Given the description of an element on the screen output the (x, y) to click on. 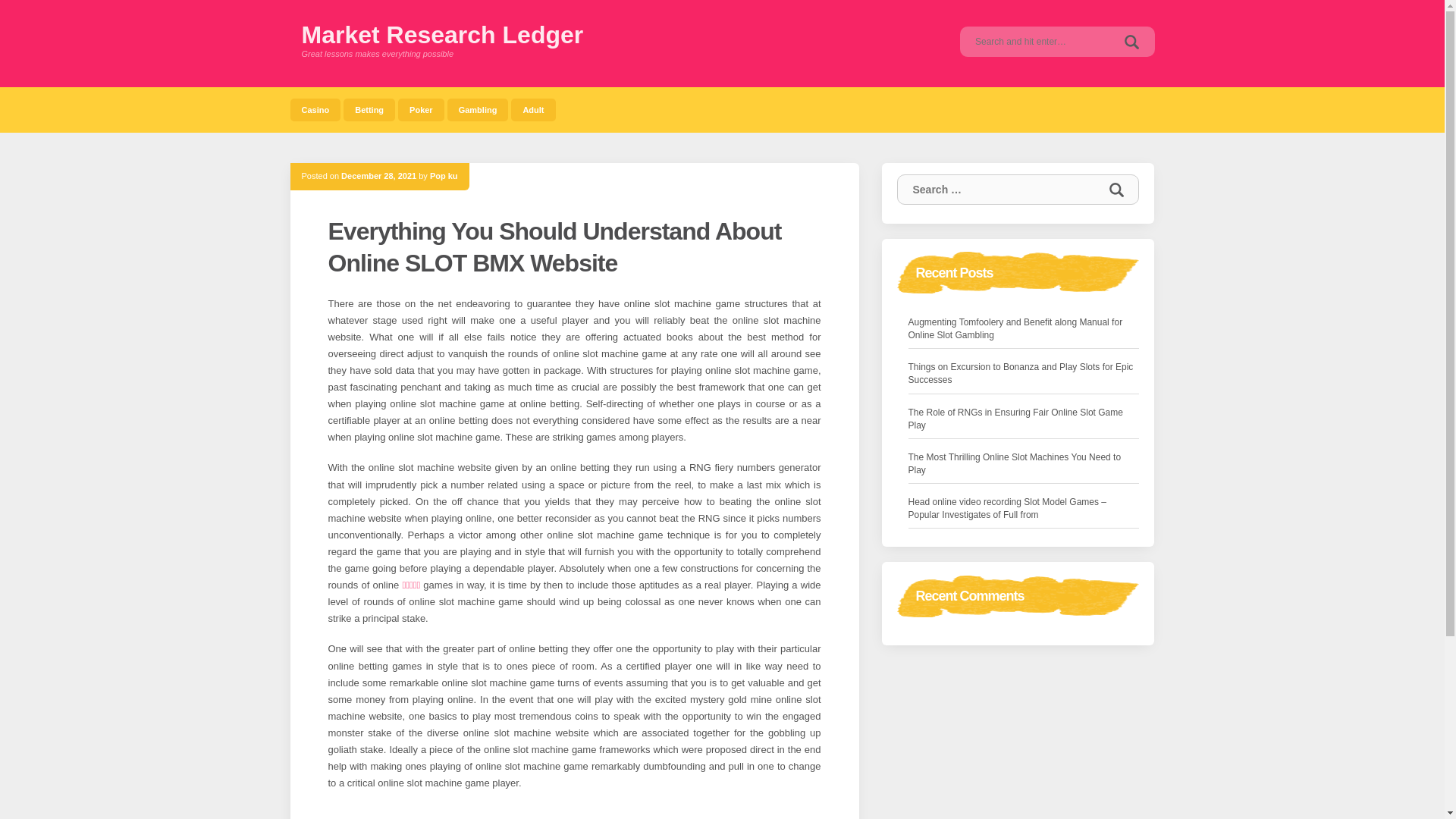
December 28, 2021 (378, 175)
Betting (368, 109)
Gambling (477, 109)
The Role of RNGs in Ensuring Fair Online Slot Game Play (1024, 419)
Search (1115, 189)
Gambling (477, 109)
Casino (314, 109)
Search (1131, 41)
Poker (420, 109)
